Given the description of an element on the screen output the (x, y) to click on. 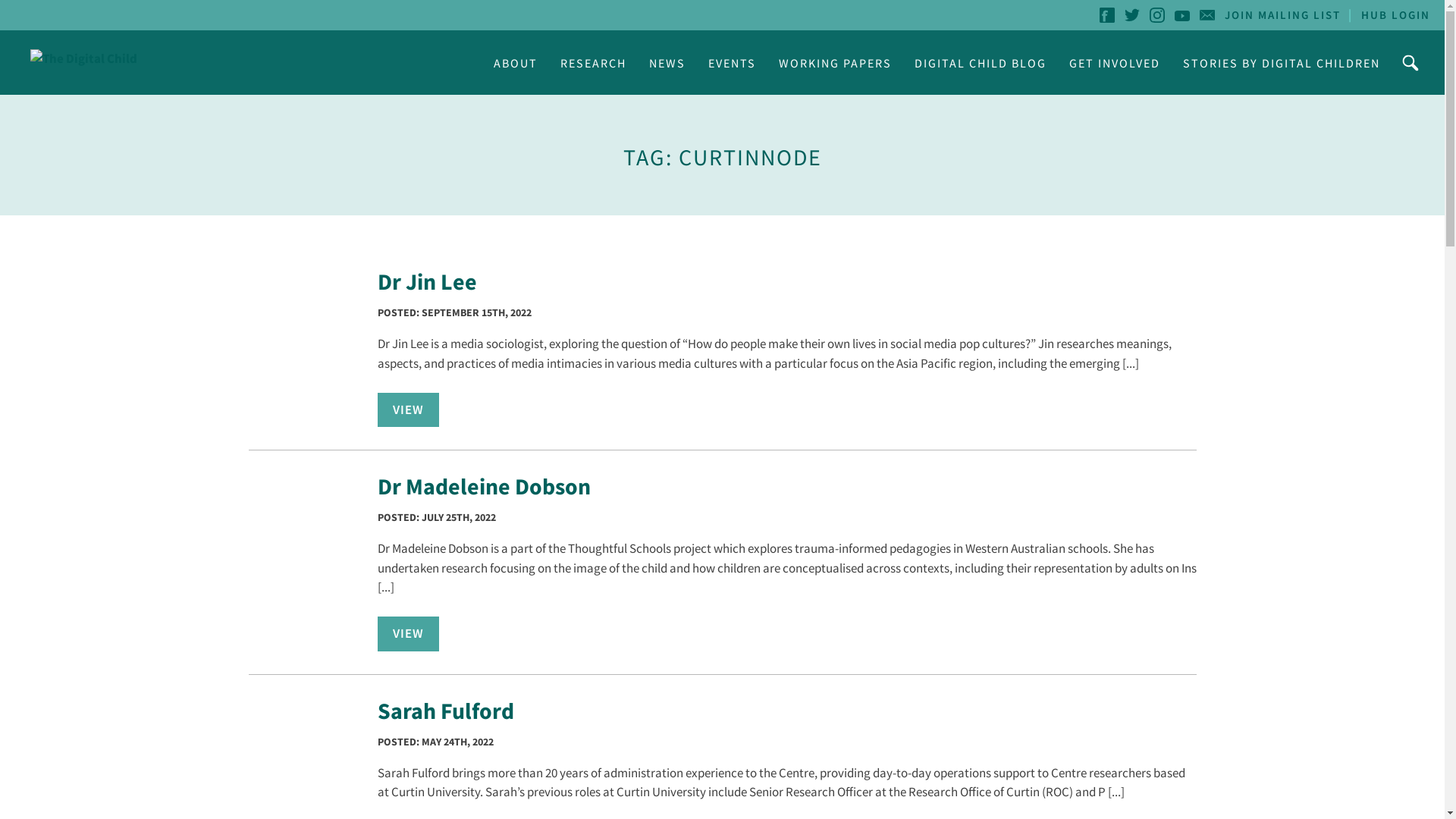
GET INVOLVED Element type: text (1114, 61)
VIEW Element type: text (408, 409)
Sarah Fulford Element type: text (445, 710)
WORKING PAPERS Element type: text (834, 61)
STORIES BY DIGITAL CHILDREN Element type: text (1281, 61)
NEWS Element type: text (667, 61)
VIEW Element type: text (408, 633)
Dr Madeleine Dobson Element type: text (483, 485)
JOIN MAILING LIST Element type: text (1282, 14)
ABOUT Element type: text (515, 61)
Dr Jin Lee Element type: text (426, 280)
HUB LOGIN Element type: text (1395, 14)
EVENTS Element type: text (732, 61)
DIGITAL CHILD BLOG Element type: text (980, 61)
RESEARCH Element type: text (593, 61)
